Given the description of an element on the screen output the (x, y) to click on. 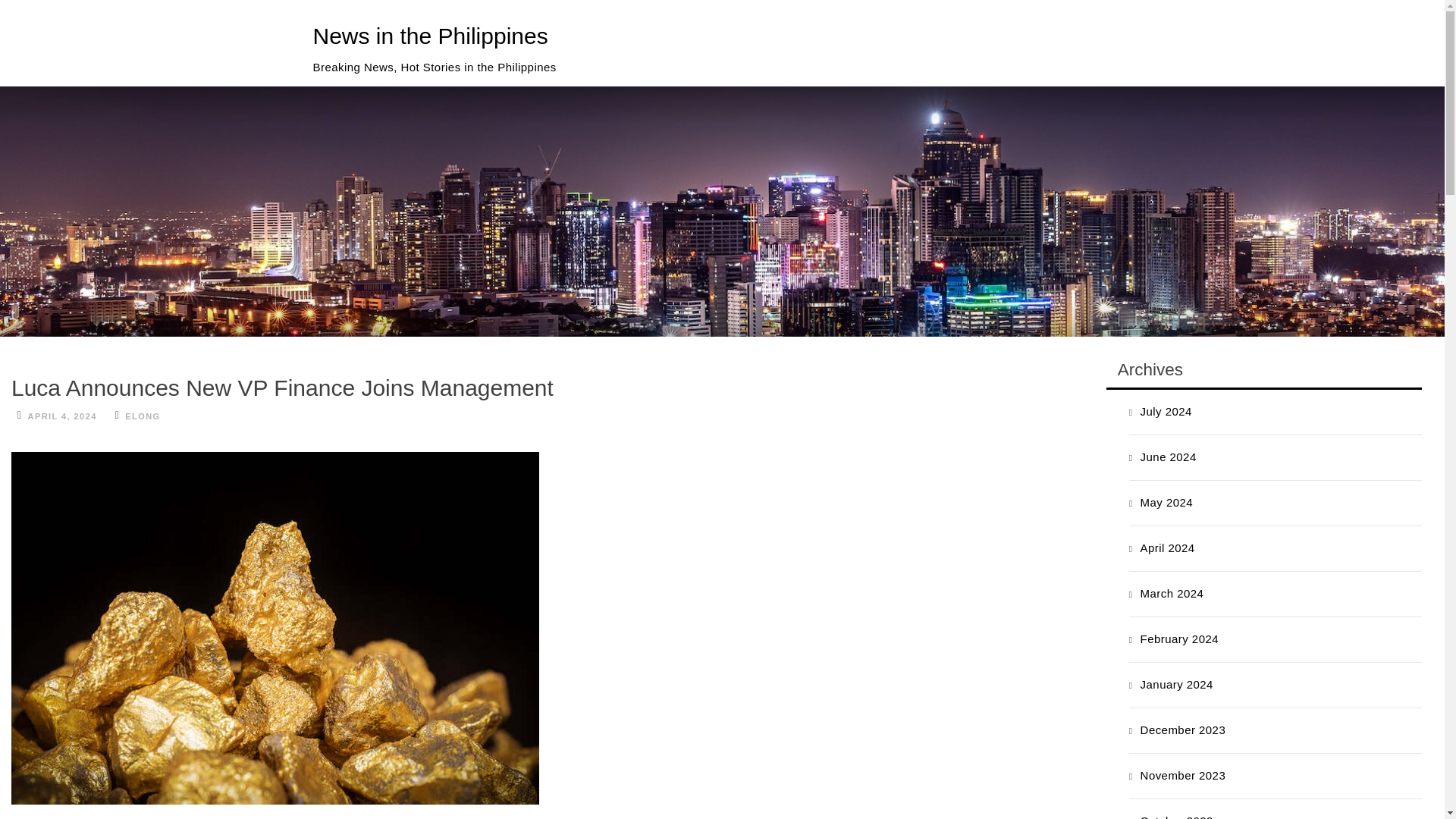
ELONG (142, 416)
November 2023 (1182, 775)
January 2024 (1176, 684)
May 2024 (1166, 502)
June 2024 (1168, 456)
December 2023 (1182, 729)
March 2024 (1172, 593)
News in the Philippines (430, 35)
April 2024 (1167, 547)
October 2023 (1176, 816)
APRIL 4, 2024 (62, 416)
July 2024 (1166, 410)
February 2024 (1179, 638)
